Given the description of an element on the screen output the (x, y) to click on. 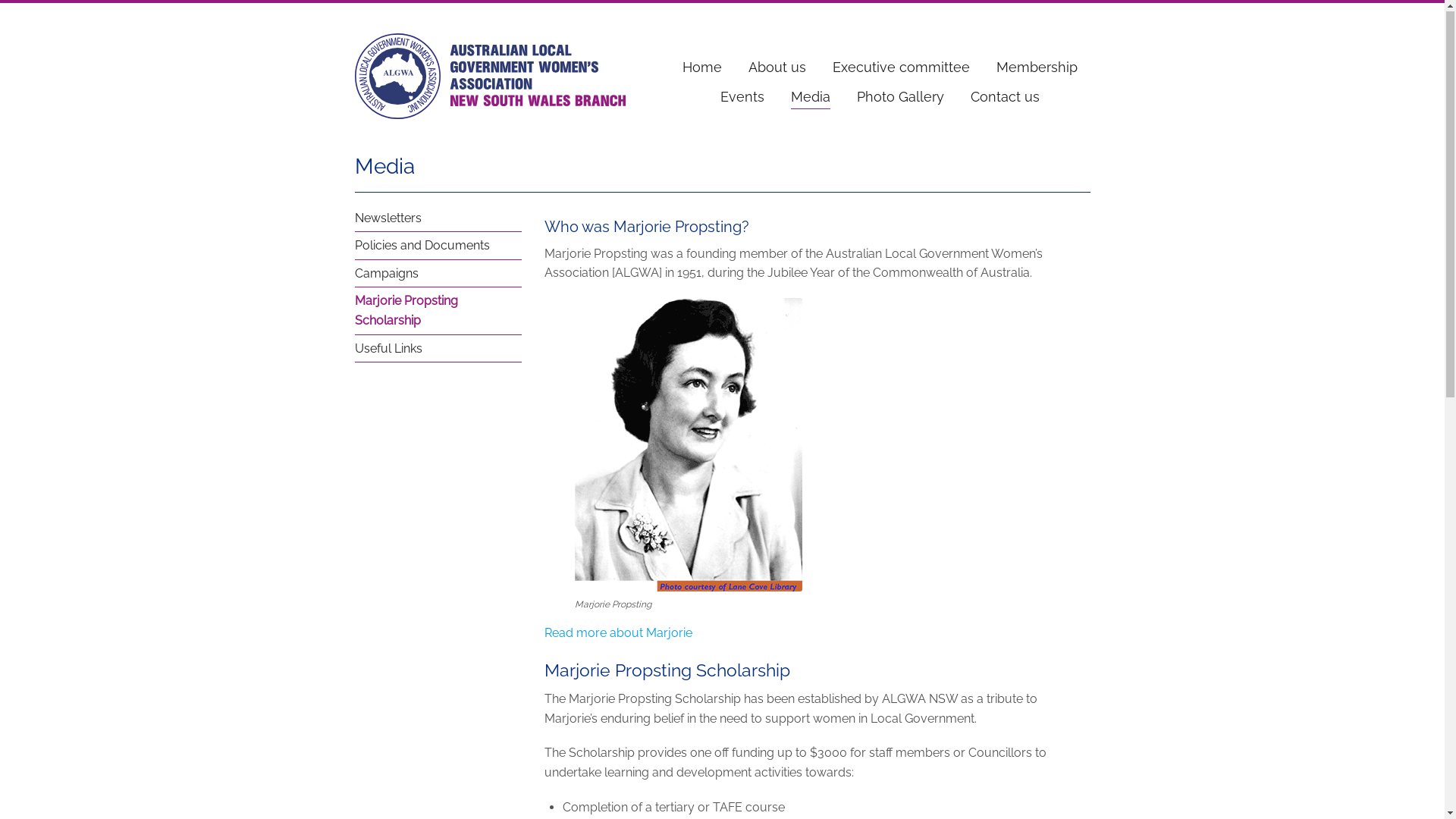
Read more about Marjorie Element type: text (618, 633)
Policies and Documents Element type: text (437, 246)
Media Element type: text (810, 97)
About us Element type: text (777, 67)
Home Element type: text (701, 67)
Newsletters Element type: text (437, 218)
Events Element type: text (742, 97)
Photo Gallery Element type: text (900, 97)
Marjorie Propsting Element type: hover (688, 445)
Contact us Element type: text (1004, 97)
Useful Links Element type: text (437, 349)
Campaigns Element type: text (437, 274)
Membership Element type: text (1036, 67)
Executive committee Element type: text (900, 67)
